Given the description of an element on the screen output the (x, y) to click on. 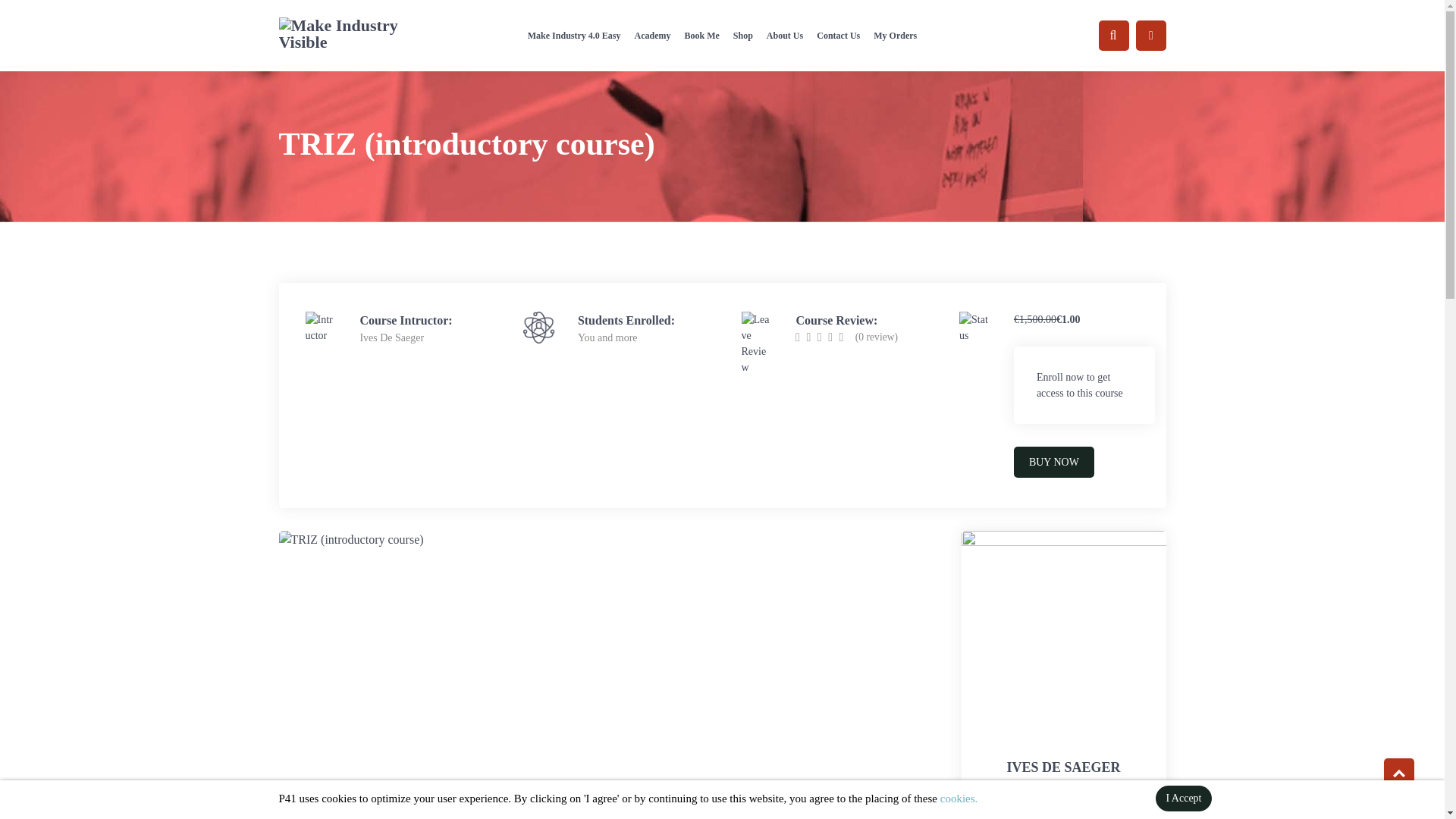
Cookie policy (959, 798)
Academy (652, 34)
Make Industry 4.0 Easy (574, 34)
accept (1183, 798)
Search (56, 18)
Shop (743, 34)
Contact Us (837, 34)
BUY NOW (1053, 461)
Ives De Saeger (391, 337)
My Orders (894, 34)
